Given the description of an element on the screen output the (x, y) to click on. 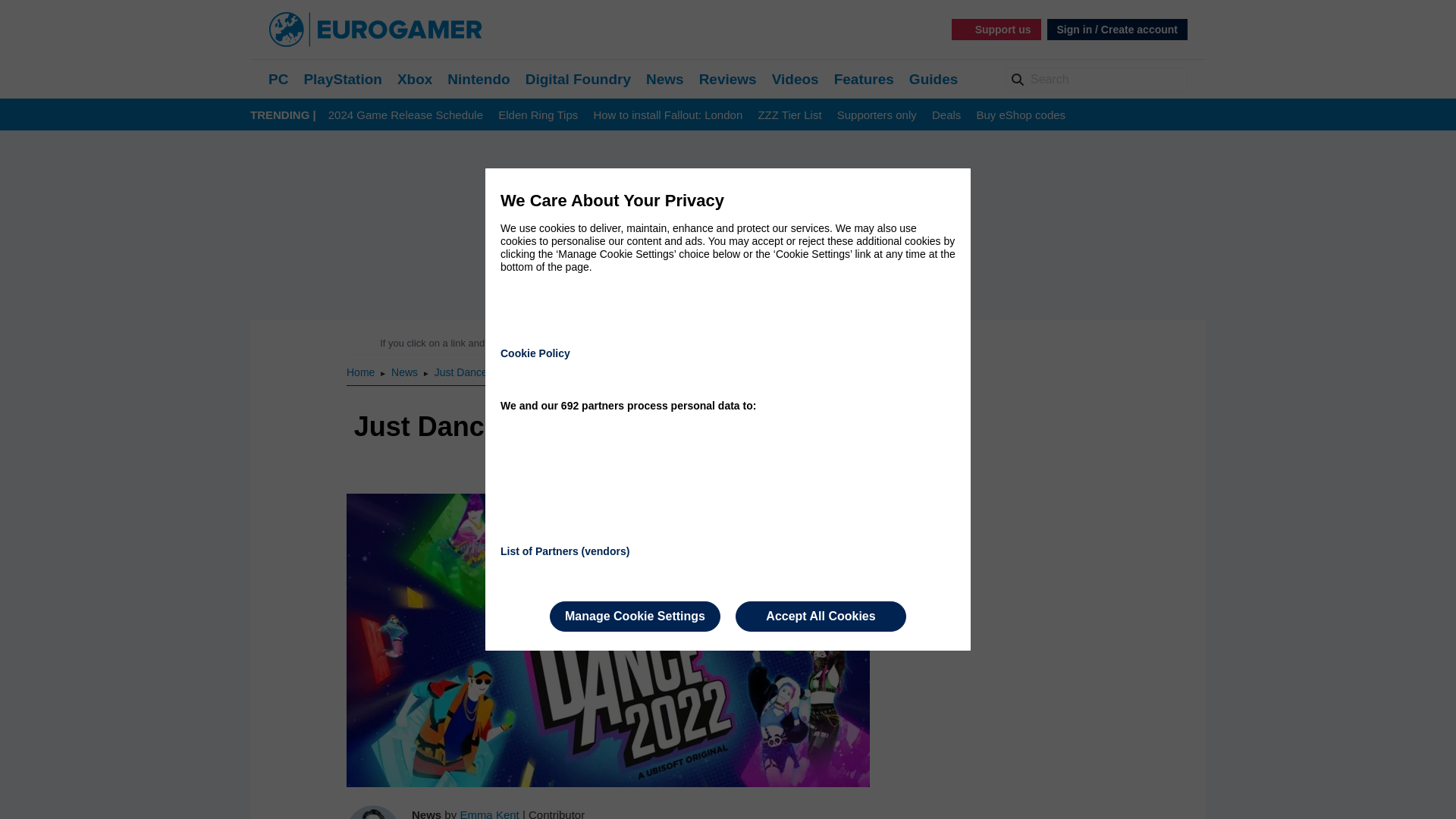
Elden Ring Tips (537, 114)
Nintendo (477, 78)
News (405, 372)
Supporters only (877, 114)
Home (361, 372)
Home (361, 372)
Digital Foundry (577, 78)
Elden Ring Tips (537, 114)
Guides (933, 78)
2024 Game Release Schedule (406, 114)
Videos (794, 78)
Just Dance 2022 (473, 372)
Reviews (727, 78)
Deals (945, 114)
How to install Fallout: London (667, 114)
